Given the description of an element on the screen output the (x, y) to click on. 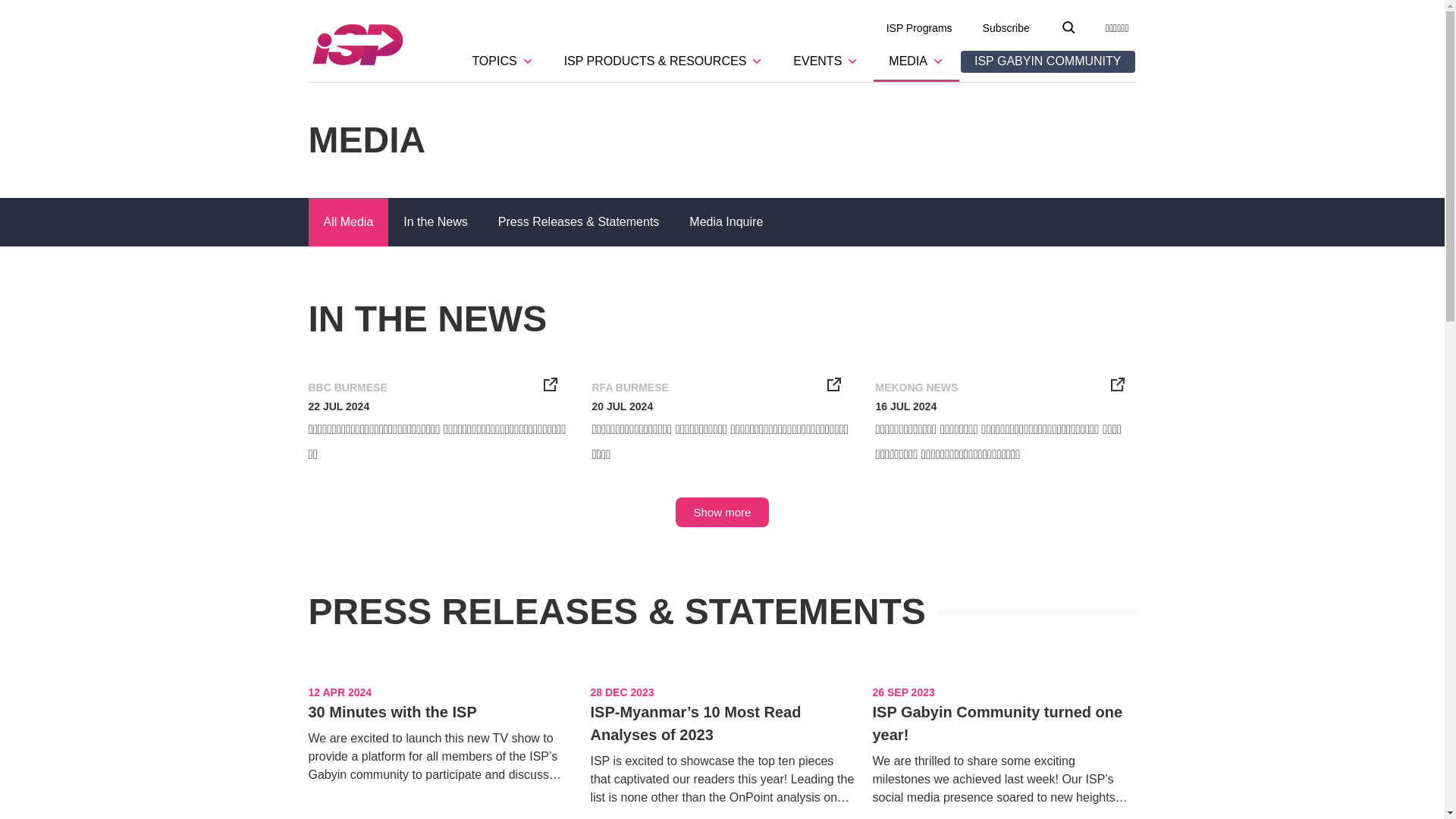
Subscribe (1005, 28)
TOPICS (502, 62)
ISP Programs (919, 28)
EVENTS (825, 62)
Search (15, 15)
